Given the description of an element on the screen output the (x, y) to click on. 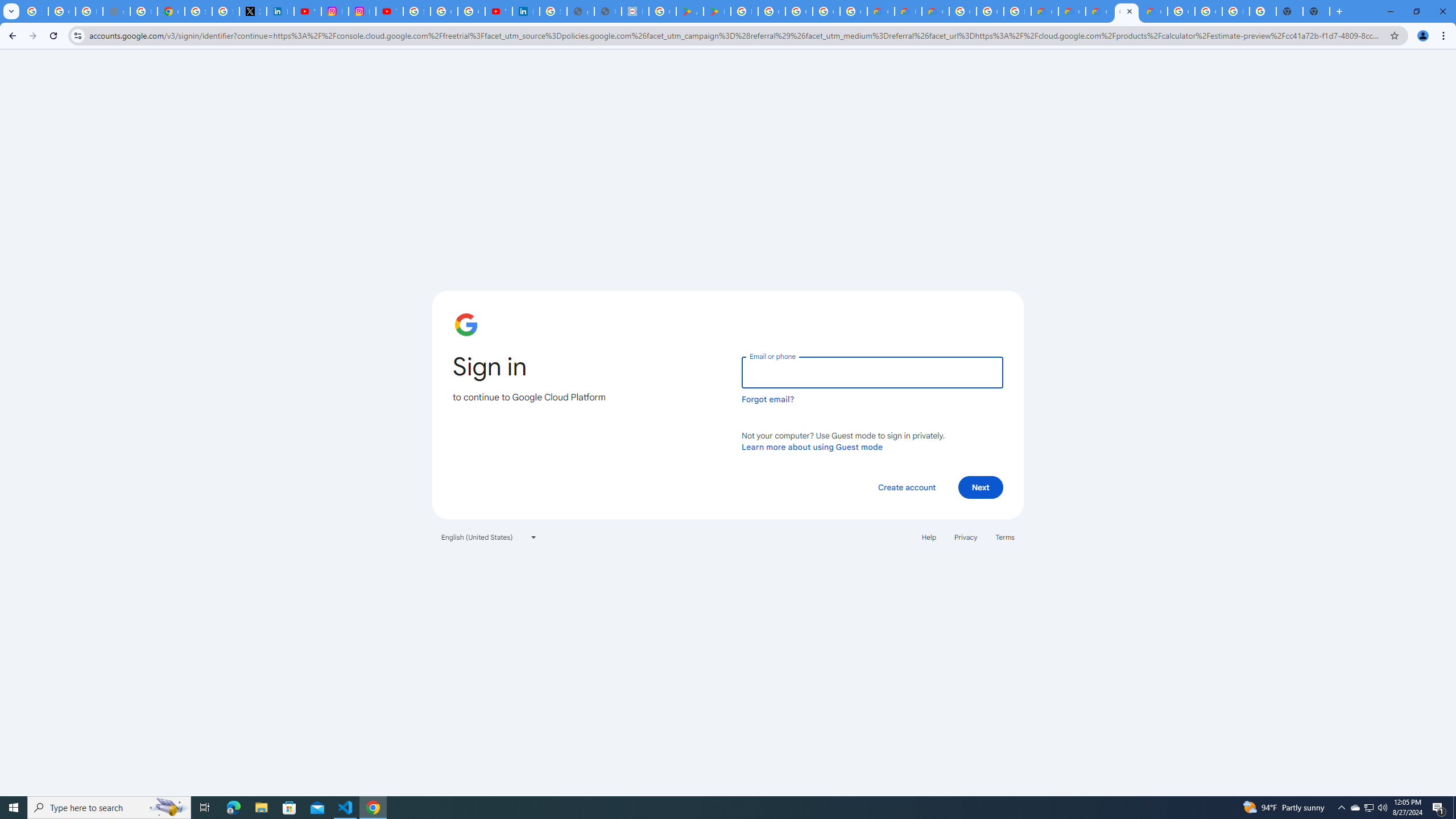
Google Cloud Platform (990, 11)
support.google.com - Network error (116, 11)
English (United States) (489, 536)
Sign in - Google Accounts (416, 11)
LinkedIn Privacy Policy (280, 11)
Privacy Help Center - Policies Help (144, 11)
Gemini for Business and Developers | Google Cloud (935, 11)
PAW Patrol Rescue World - Apps on Google Play (716, 11)
